Given the description of an element on the screen output the (x, y) to click on. 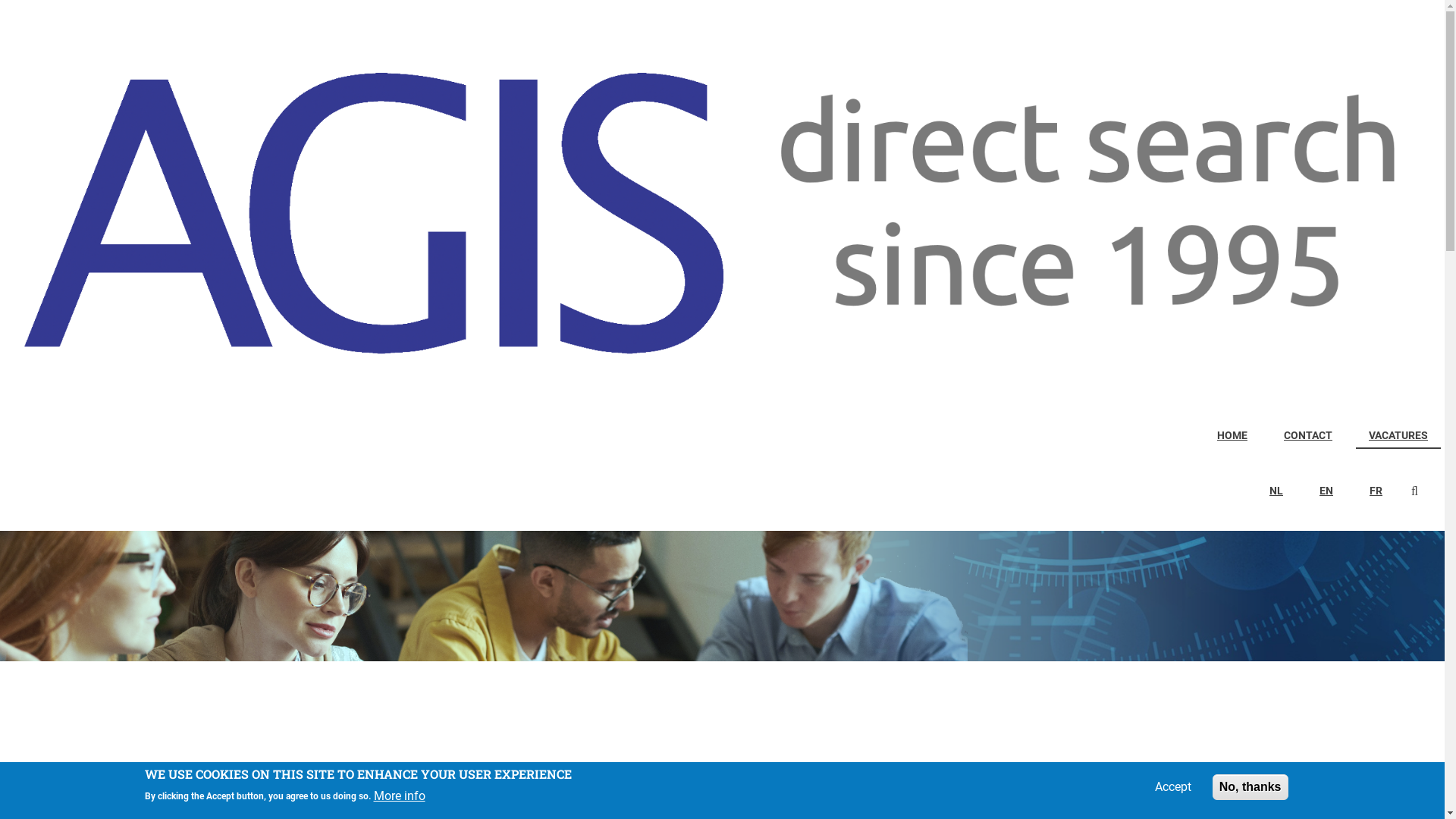
Enter the terms you wish to search for. Element type: hover (1421, 490)
ERVAREN PROJECTINGENIEUR/PROJECTLEIDER HVAC-SANITAIR Element type: text (336, 772)
More info Element type: text (398, 796)
VACATURES Element type: text (1397, 435)
Skip to main content Element type: text (0, 0)
CONTACT Element type: text (1307, 435)
NL Element type: text (1275, 491)
HOME Element type: text (1232, 435)
EN Element type: text (1326, 491)
Search Element type: text (1417, 492)
No, thanks Element type: text (1250, 787)
Accept Element type: text (1172, 787)
FR Element type: text (1375, 491)
